Given the description of an element on the screen output the (x, y) to click on. 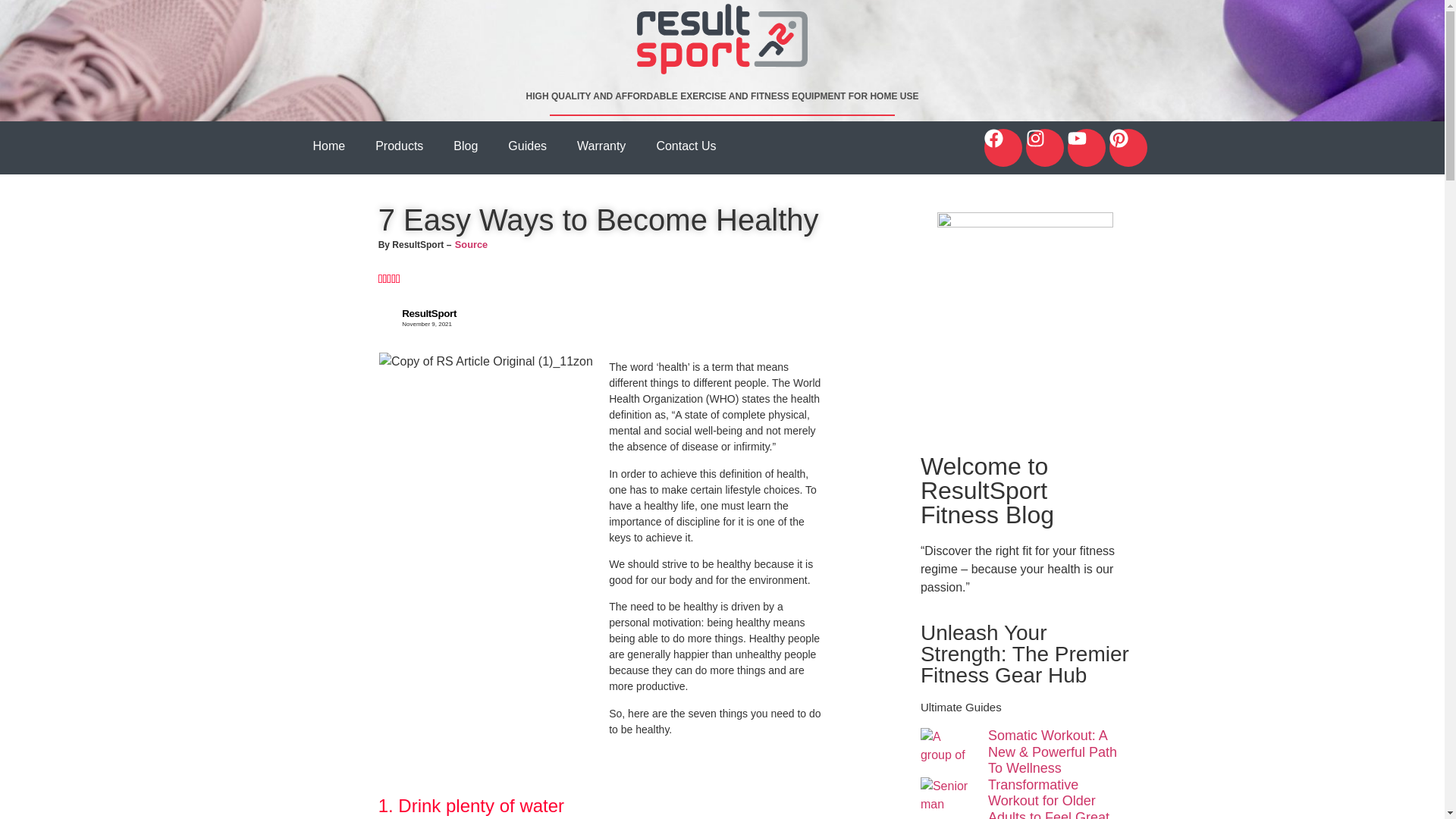
Transformative Workout for Older Adults to Feel Great (1048, 798)
Contact Us (685, 145)
Home (328, 145)
Products (398, 145)
Blog (465, 145)
Warranty (601, 145)
Source (470, 244)
Guides (527, 145)
